Given the description of an element on the screen output the (x, y) to click on. 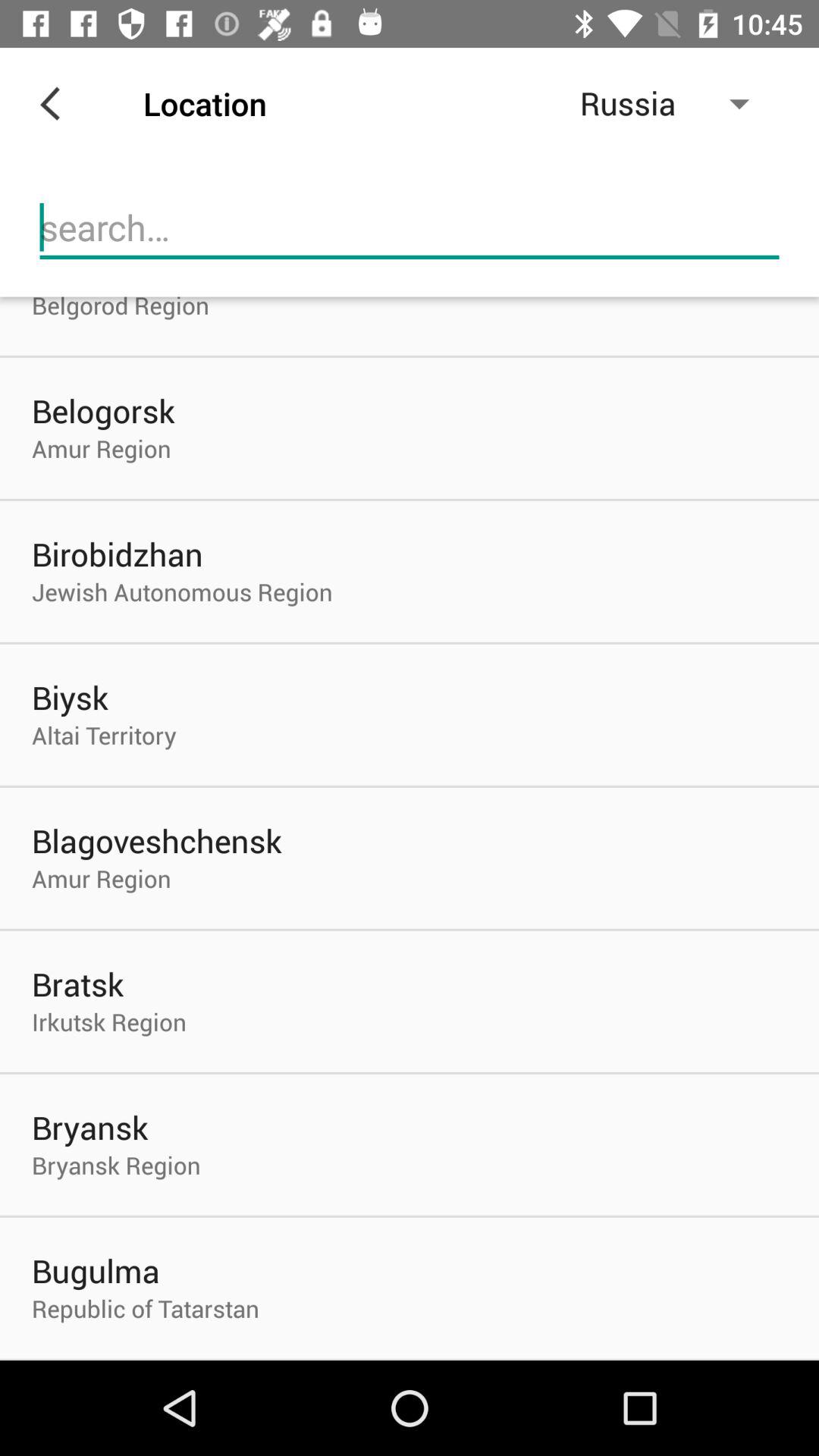
search area (409, 228)
